Given the description of an element on the screen output the (x, y) to click on. 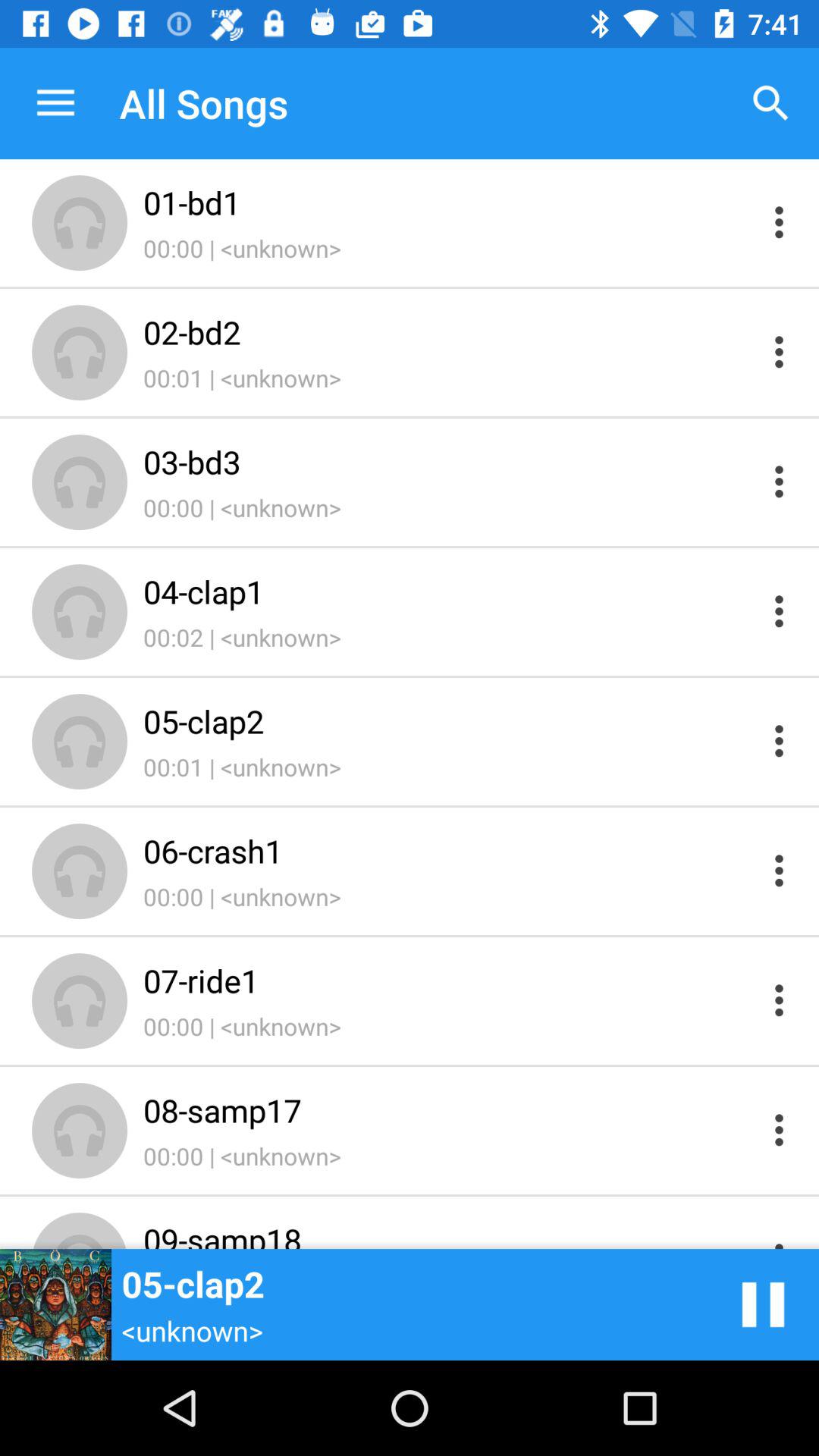
pause song (763, 1304)
